Given the description of an element on the screen output the (x, y) to click on. 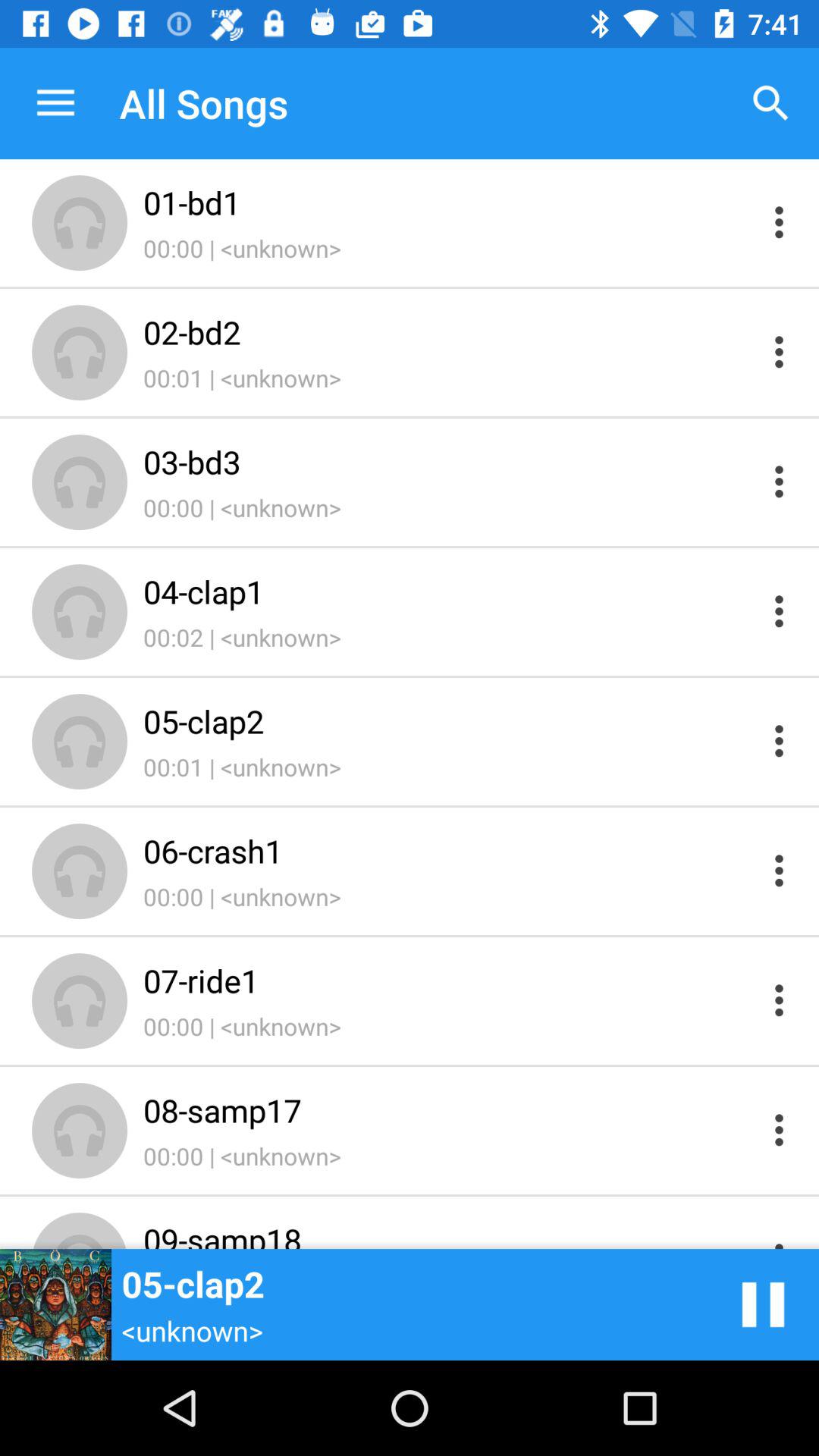
pause song (763, 1304)
